Given the description of an element on the screen output the (x, y) to click on. 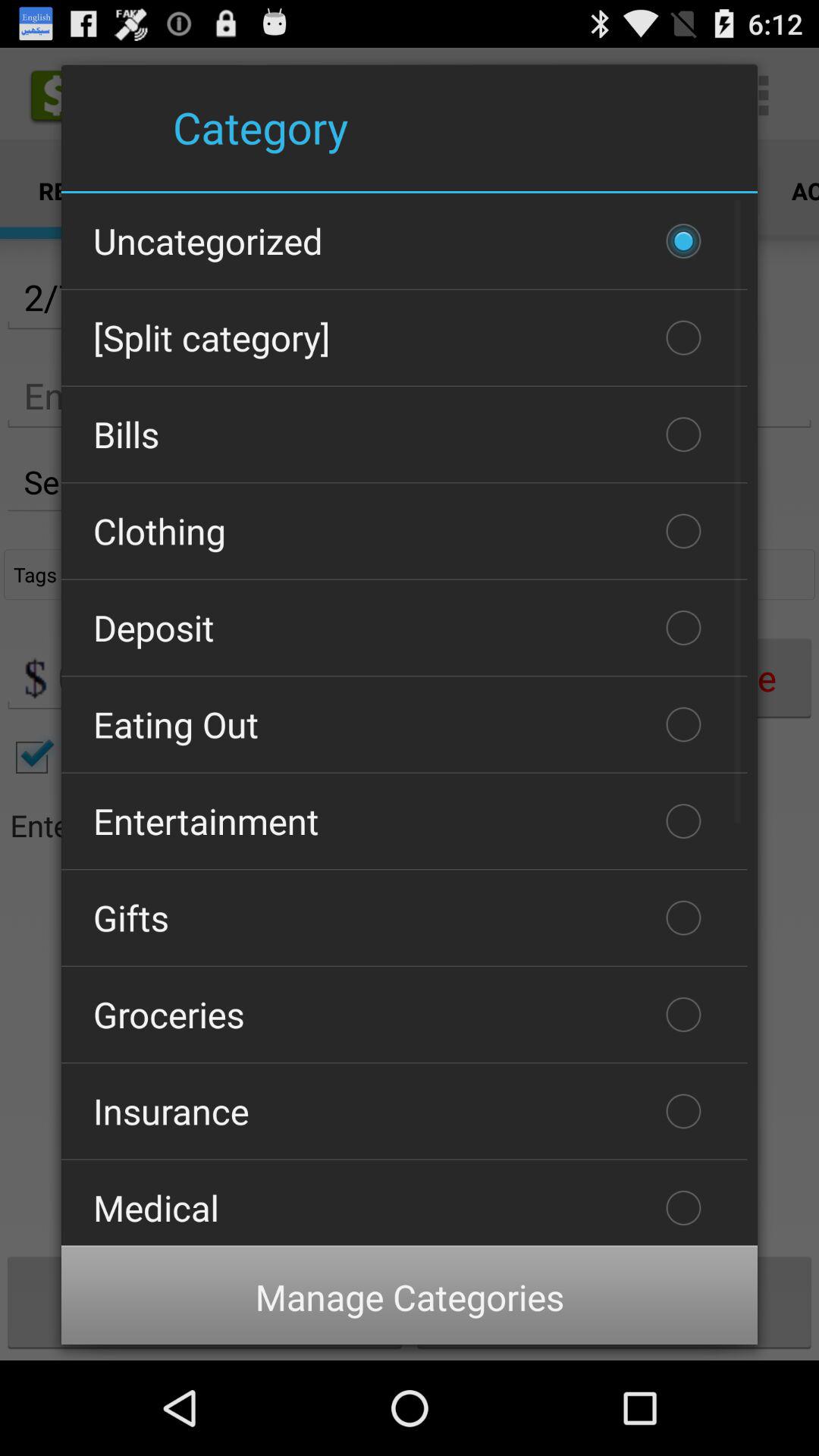
select deposit item (404, 627)
